Given the description of an element on the screen output the (x, y) to click on. 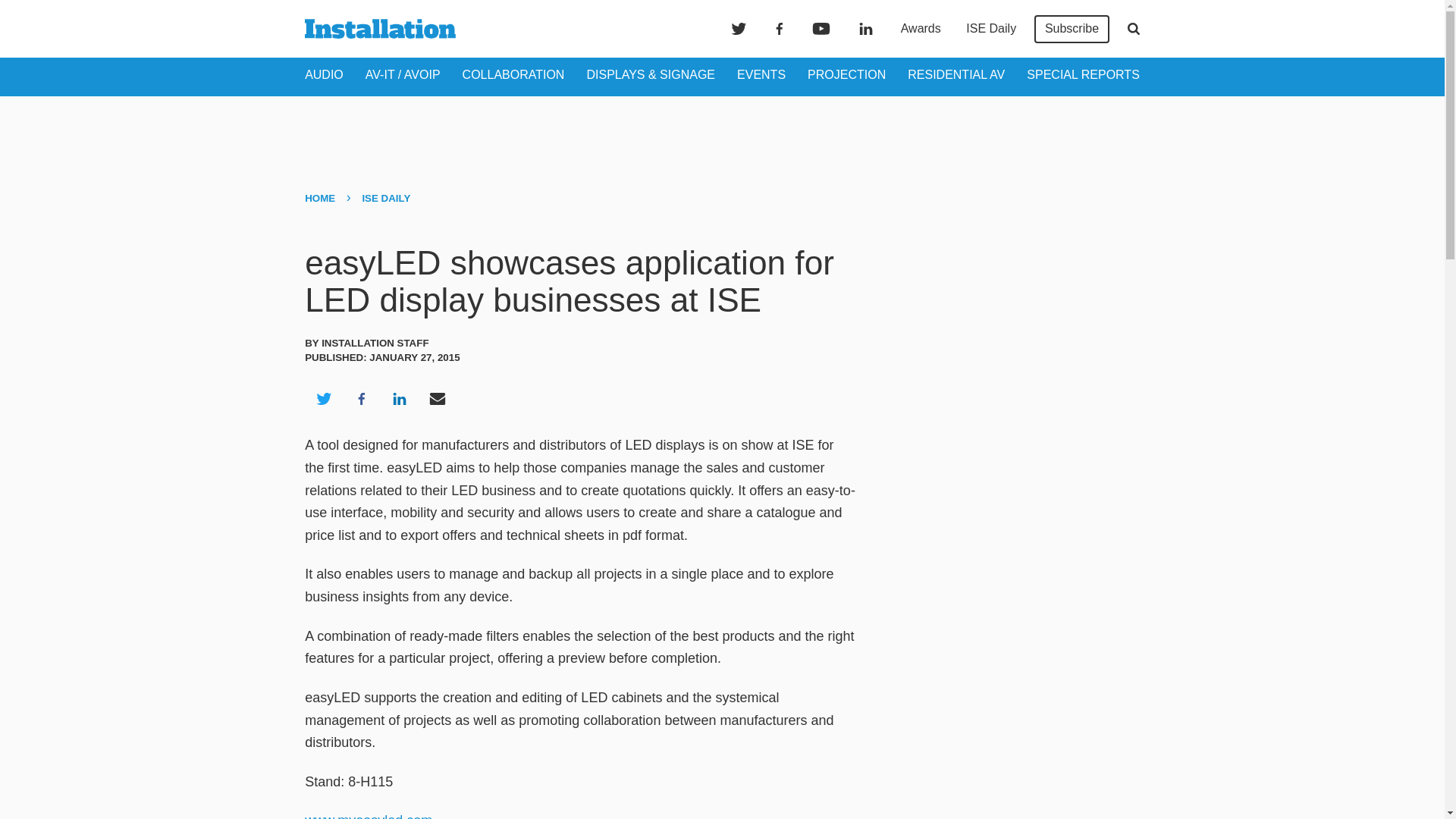
Subscribe (1071, 29)
Share on LinkedIn (399, 398)
AUDIO (323, 74)
ISE Daily (990, 29)
Share via Email (438, 398)
Awards (921, 29)
Installation Staff's Author Profile (374, 342)
Share on Twitter (323, 398)
COLLABORATION (513, 74)
Share on Facebook (361, 398)
